Given the description of an element on the screen output the (x, y) to click on. 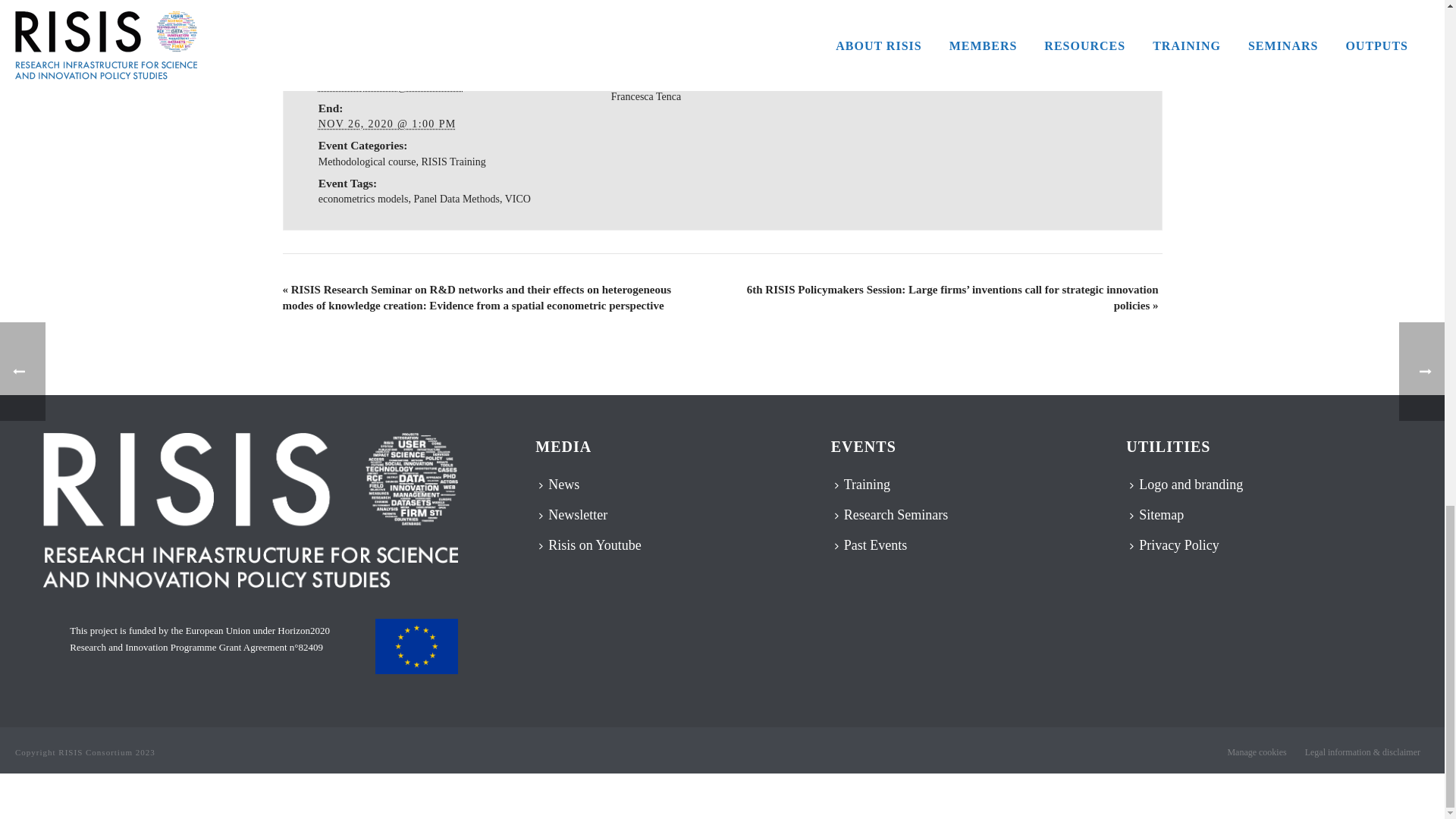
Manage cookies (1256, 752)
2020-11-19 (391, 86)
2020-11-26 (387, 123)
